Given the description of an element on the screen output the (x, y) to click on. 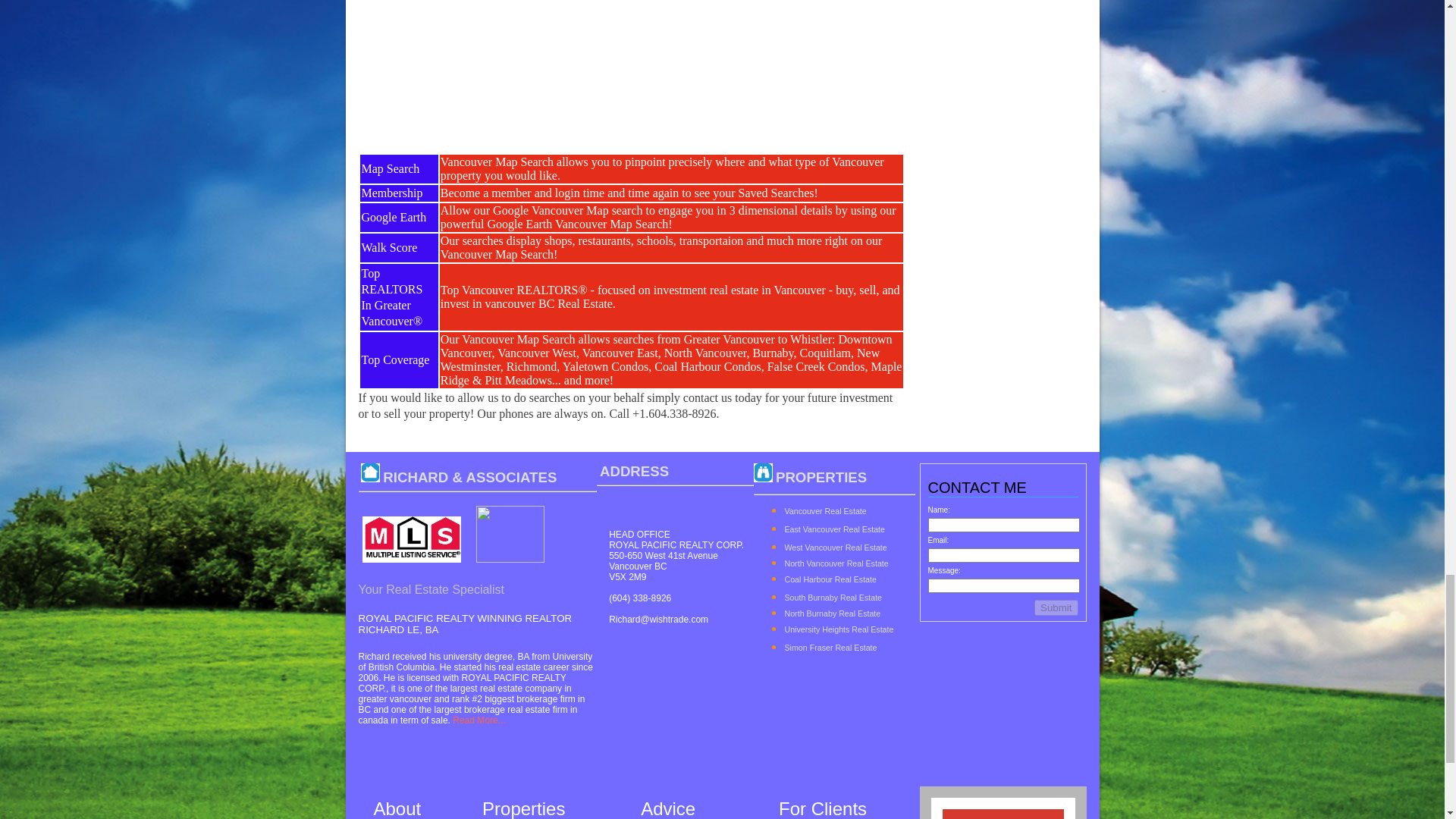
Submit (1055, 607)
